Given the description of an element on the screen output the (x, y) to click on. 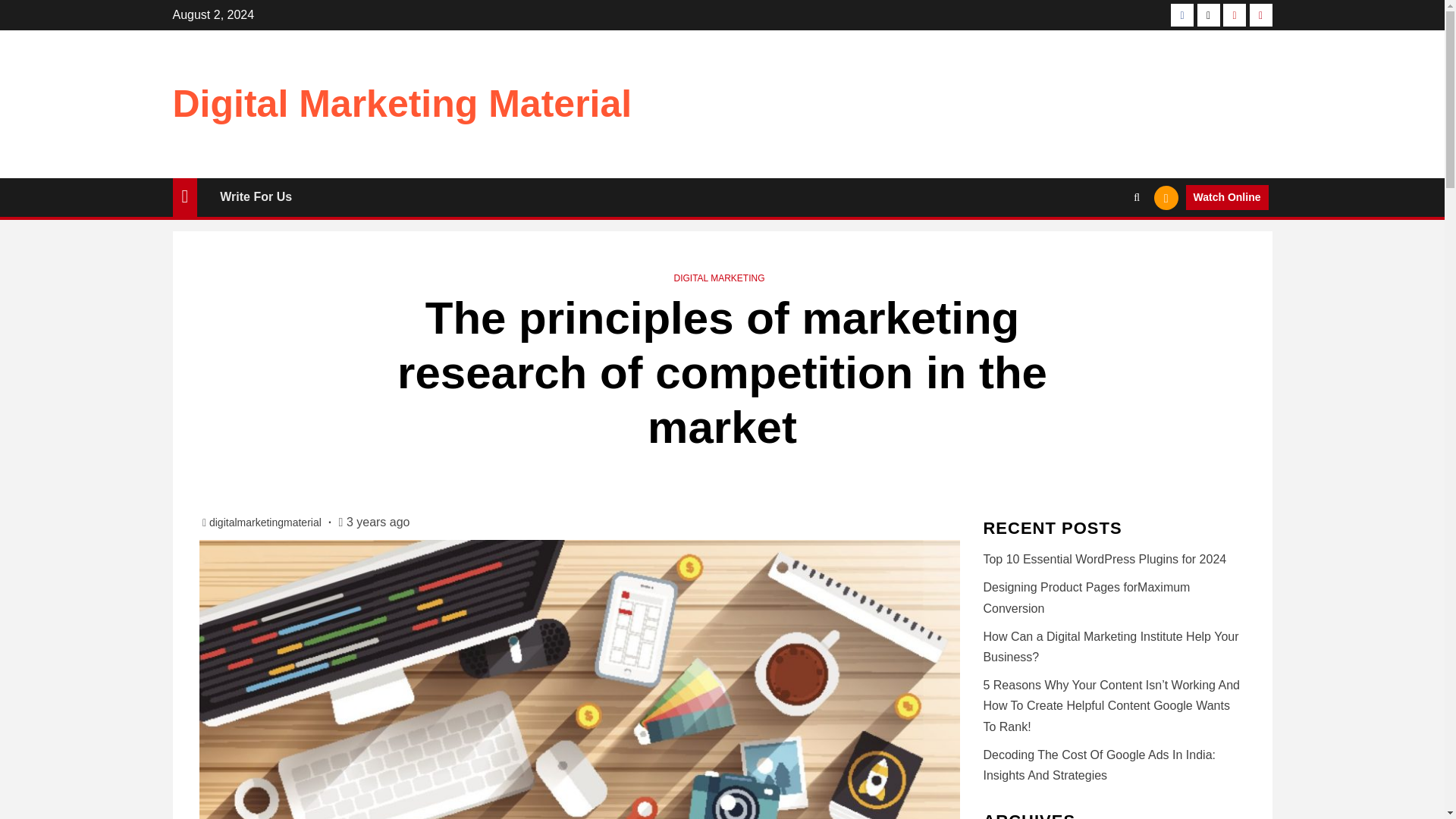
Search (1106, 244)
digitalmarketingmaterial (266, 522)
Digital Marketing Material (402, 103)
Youtube (1234, 15)
Facebook (1181, 15)
Watch Online (1227, 197)
DIGITAL MARKETING (718, 277)
Pinterest (1260, 15)
Twitter (1208, 15)
Write For Us (255, 196)
